Given the description of an element on the screen output the (x, y) to click on. 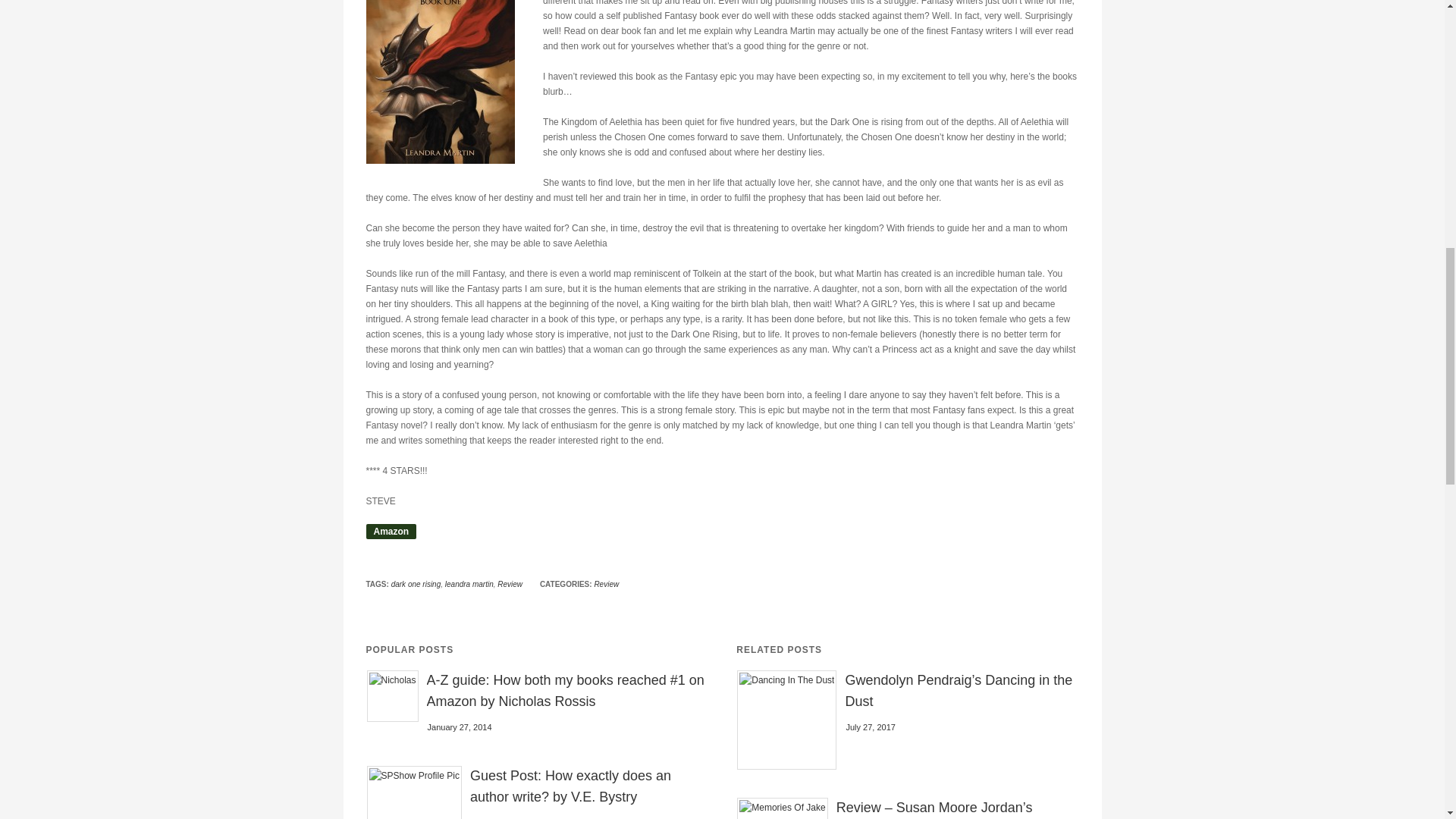
Review (606, 583)
Amazon (390, 531)
dark one rising (416, 583)
Monday, January 27th, 2014, 8:14 pm (460, 727)
Monday, August 11th, 2014, 9:52 pm (500, 818)
January 27, 2014 (460, 727)
Guest Post: How exactly does an author write? by V.E. Bystry (413, 792)
August 11, 2014 (500, 818)
leandra martin (469, 583)
Guest Post: How exactly does an author write? by V.E. Bystry (588, 785)
Guest Post: How exactly does an author write? by V.E. Bystry (588, 785)
Review (509, 583)
